Given the description of an element on the screen output the (x, y) to click on. 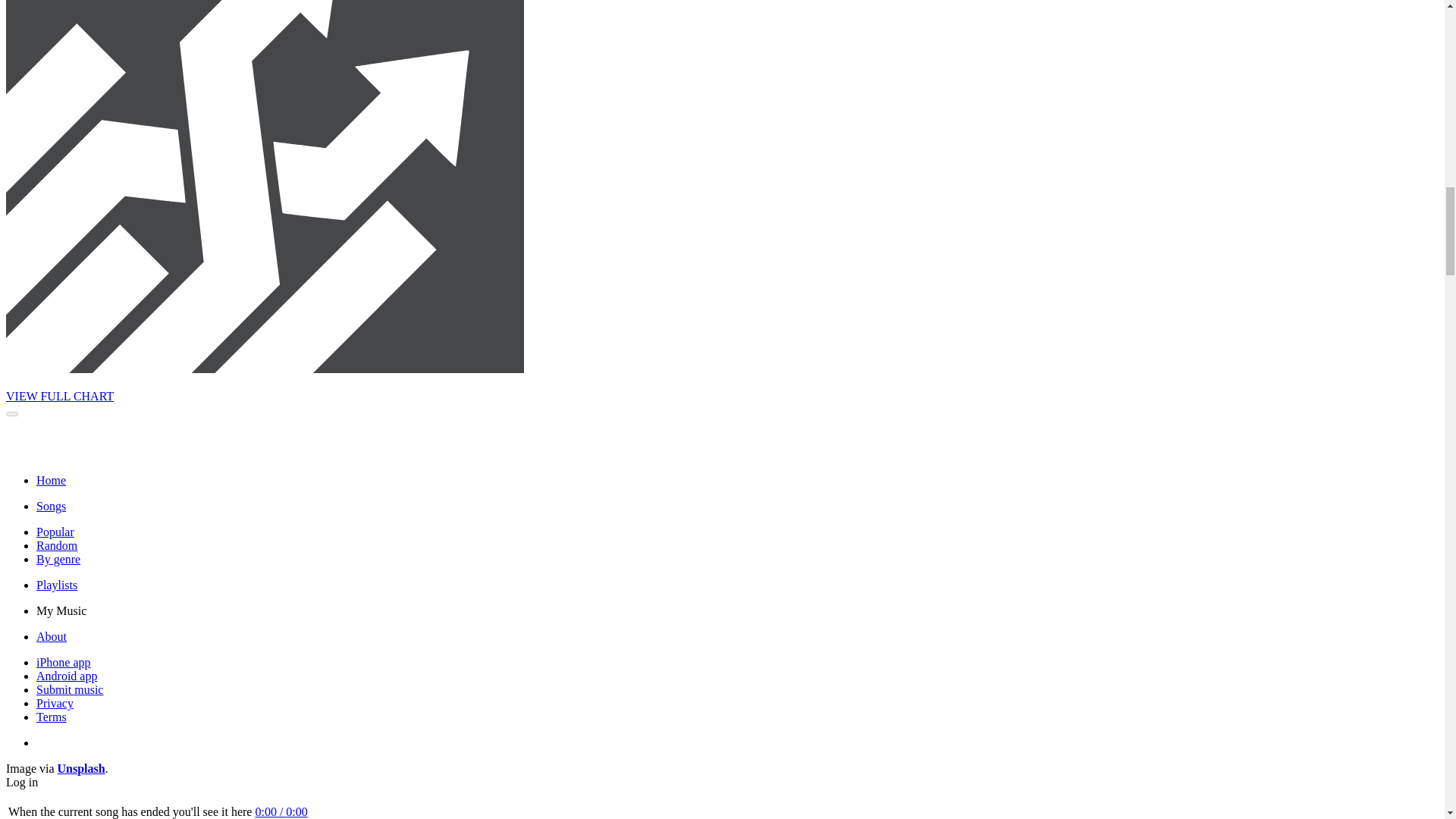
Submit music (69, 689)
New Songs (50, 505)
Songs (50, 505)
Submit Music (69, 689)
iPhone app (63, 662)
Android app (66, 675)
Popular (55, 531)
Random Song (56, 545)
Unsplash (81, 768)
VIEW FULL CHART (59, 395)
